Given the description of an element on the screen output the (x, y) to click on. 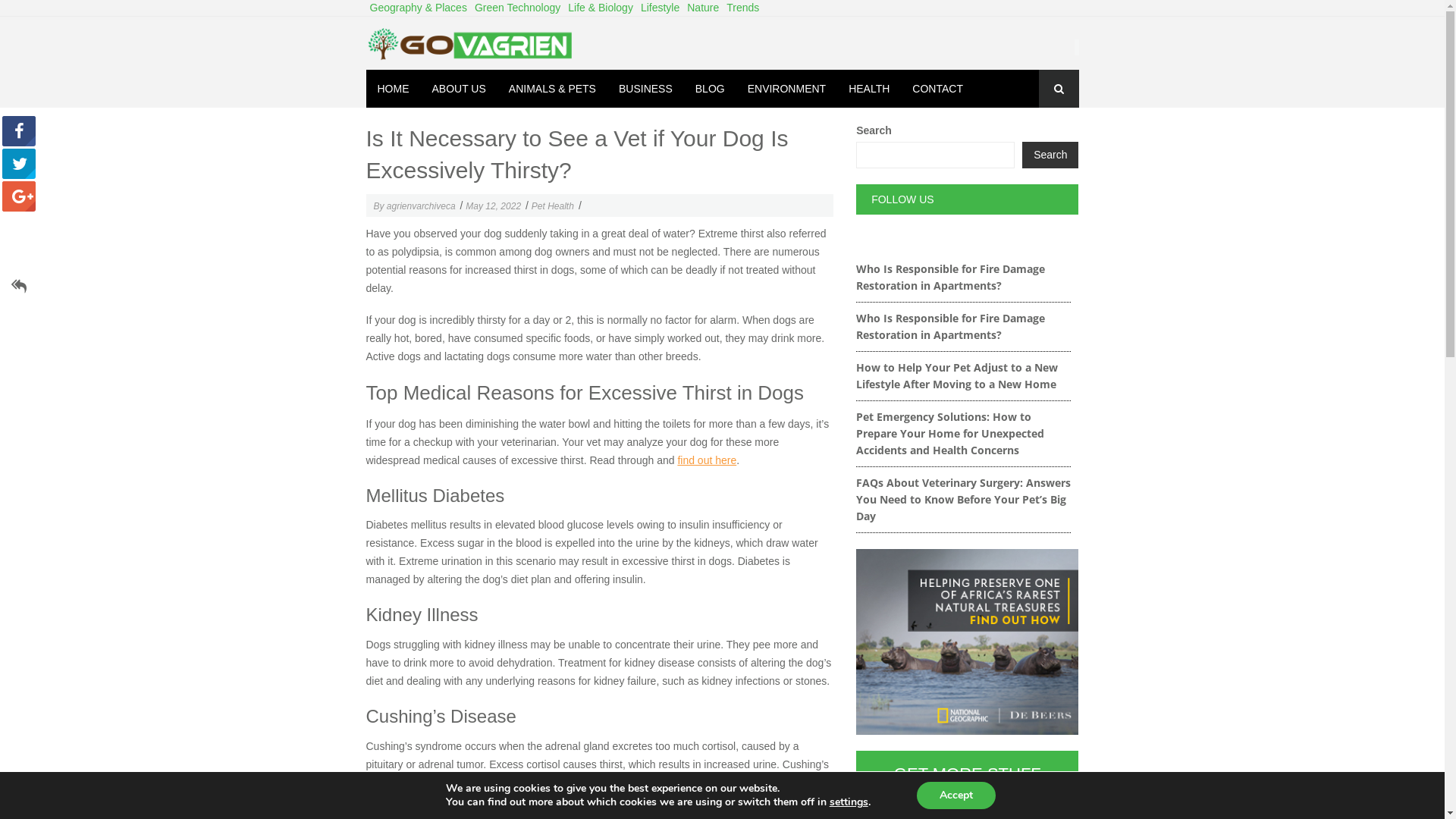
Green Technology Element type: text (517, 7)
BLOG Element type: text (710, 88)
Nature Element type: text (702, 7)
agrienvarchiveca Element type: text (420, 205)
Search Element type: text (15, 14)
BUSINESS Element type: text (645, 88)
Search Element type: text (1050, 154)
ANIMALS & PETS Element type: text (552, 88)
HEALTH Element type: text (868, 88)
Life & Biology Element type: text (600, 7)
Trends Element type: text (742, 7)
Geography & Places Element type: text (417, 7)
HOME Element type: text (392, 88)
find out here Element type: text (706, 460)
ENVIRONMENT Element type: text (786, 88)
Pet Health Element type: text (552, 205)
CONTACT Element type: text (937, 88)
Lifestyle Element type: text (660, 7)
May 12, 2022 Element type: text (492, 205)
ABOUT US Element type: text (458, 88)
Accept Element type: text (955, 795)
veterinary surgeon in Memphis Element type: text (672, 782)
